Given the description of an element on the screen output the (x, y) to click on. 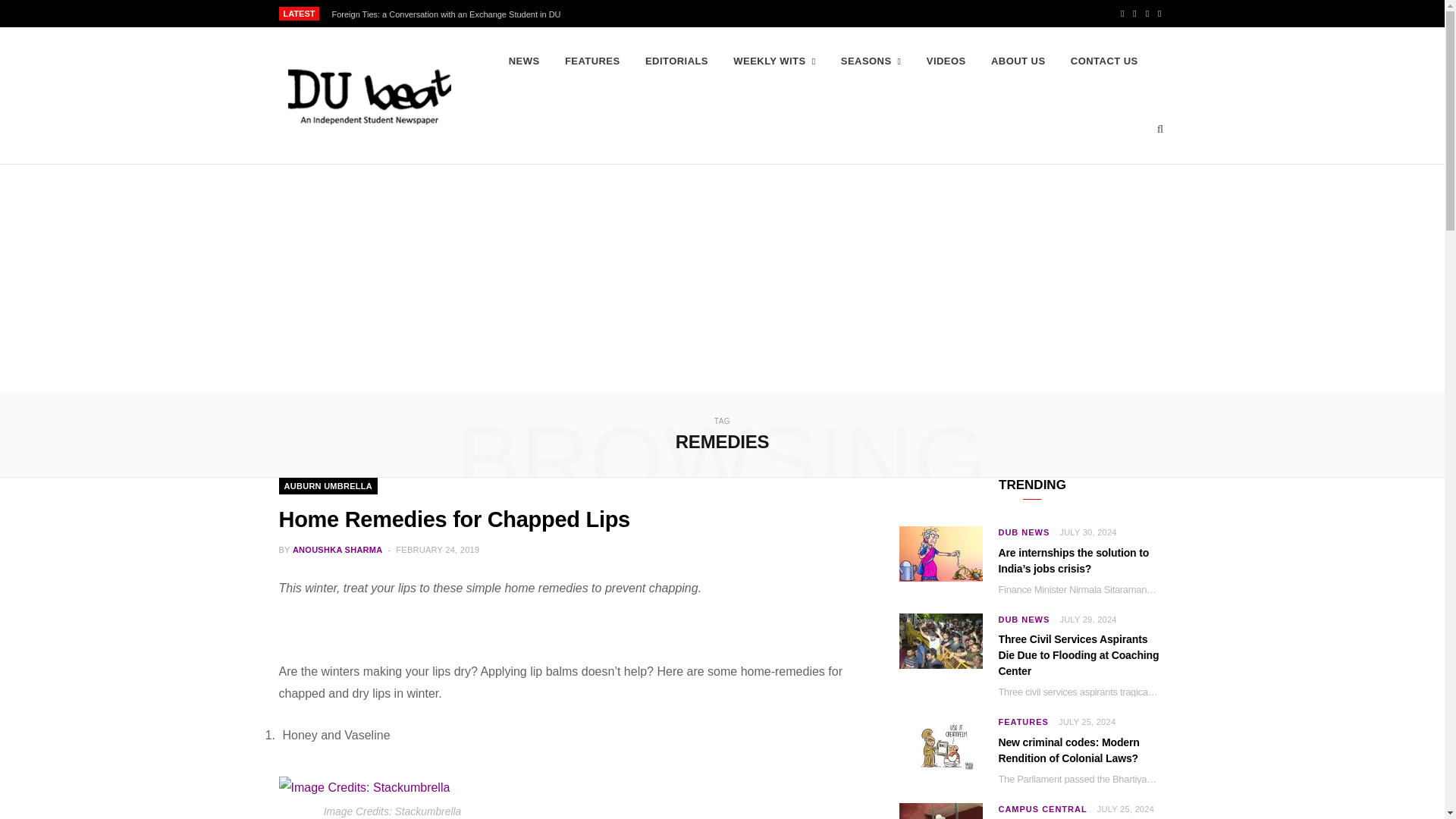
Foreign Ties: a Conversation with an Exchange Student in DU (449, 14)
FEATURES (592, 61)
WEEKLY WITS (774, 61)
EDITORIALS (676, 61)
Foreign Ties: a Conversation with an Exchange Student in DU (449, 14)
